Given the description of an element on the screen output the (x, y) to click on. 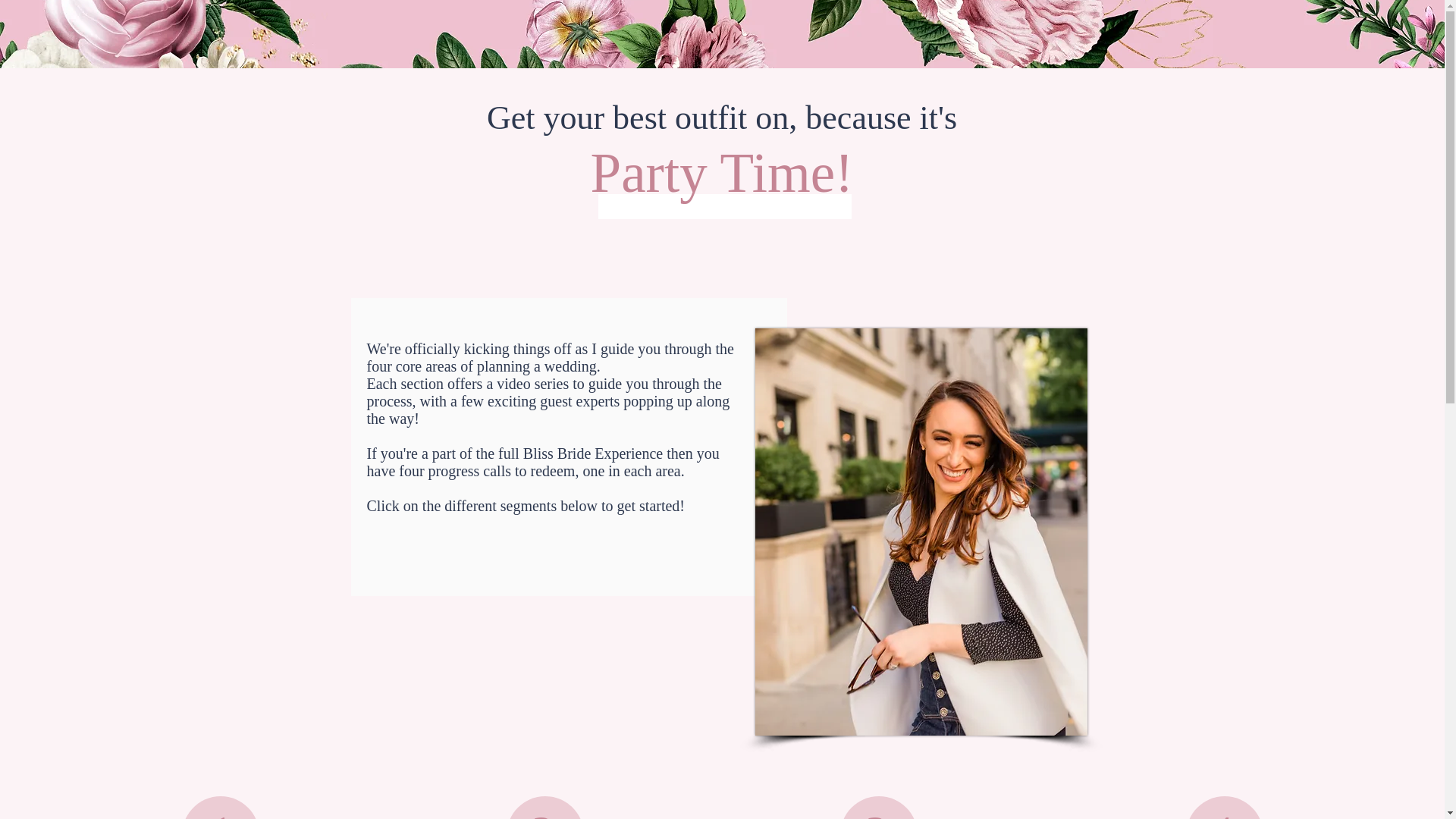
Blog (946, 25)
About (493, 25)
The Bliss Bride Experience (638, 25)
Home (397, 25)
The Little Pink Pages (819, 25)
Contact (1041, 25)
Log In (1234, 26)
